Given the description of an element on the screen output the (x, y) to click on. 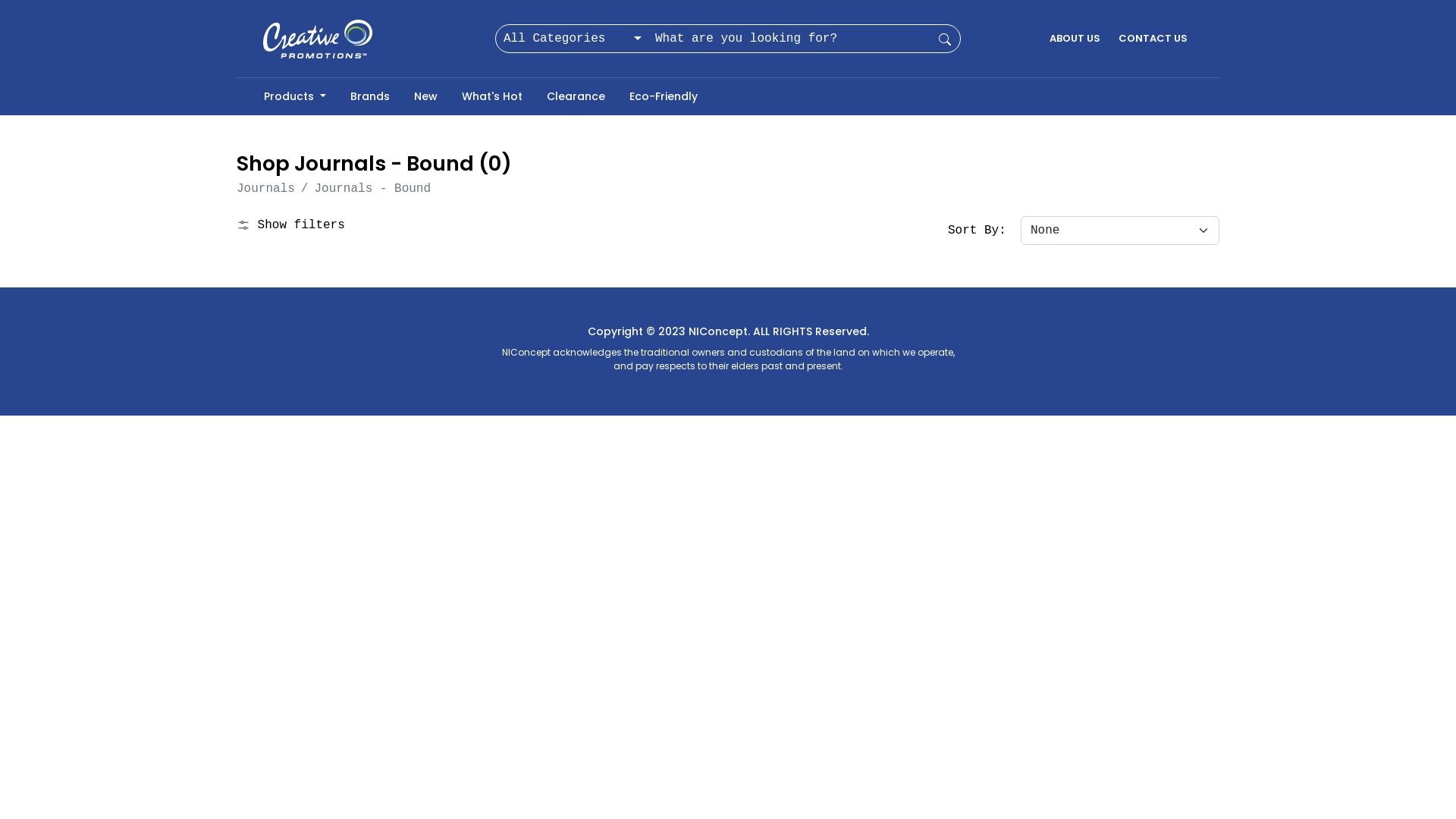
CONTACT US Element type: text (1152, 38)
Brands Element type: text (369, 96)
New Element type: text (425, 96)
What's Hot Element type: text (491, 96)
Eco-Friendly Element type: text (663, 96)
Clearance Element type: text (575, 96)
Products Element type: text (294, 96)
Show filters Element type: text (290, 225)
ABOUT US Element type: text (1074, 38)
